Given the description of an element on the screen output the (x, y) to click on. 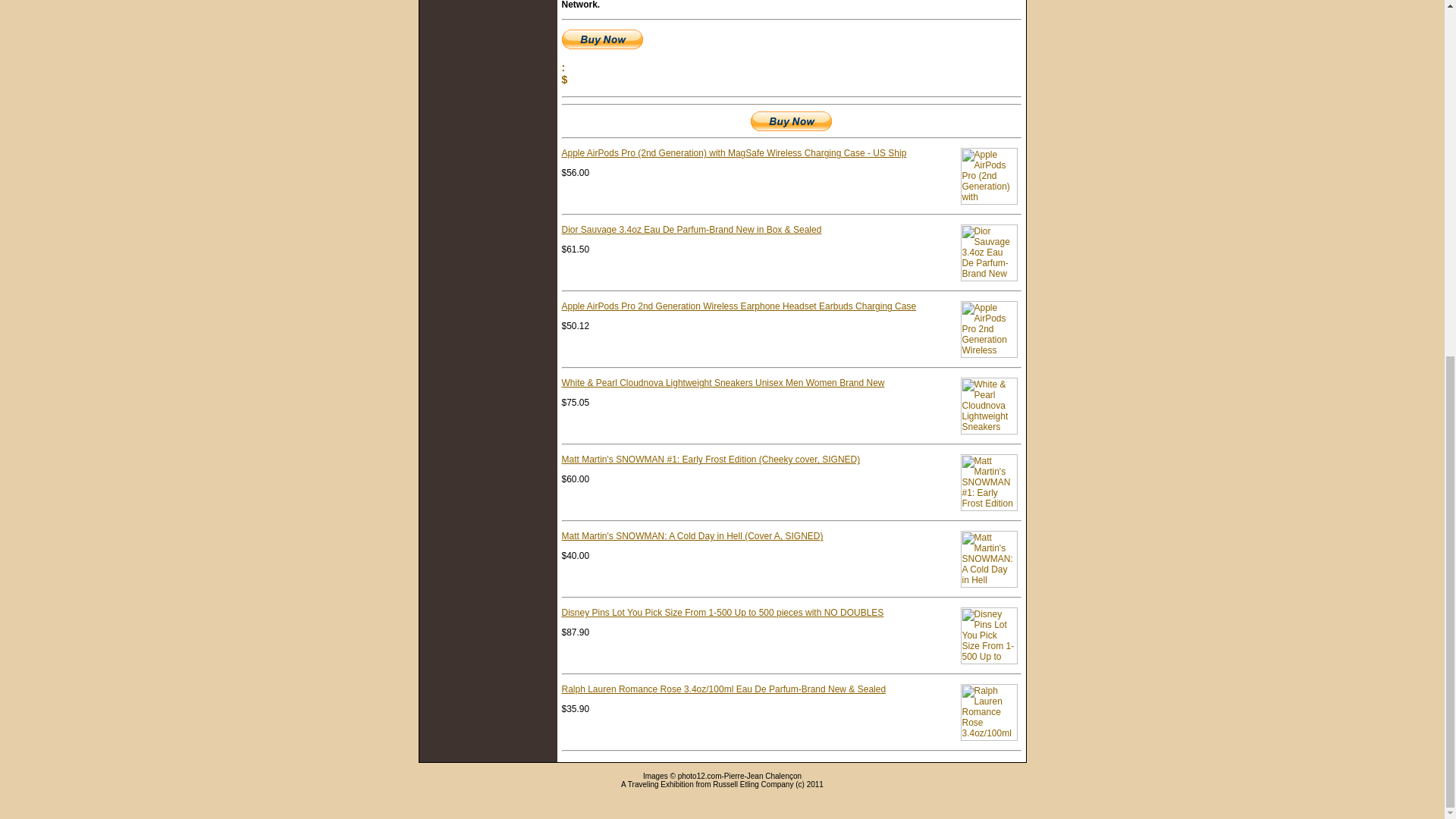
Buy Now (791, 121)
Buy Now (601, 39)
